Given the description of an element on the screen output the (x, y) to click on. 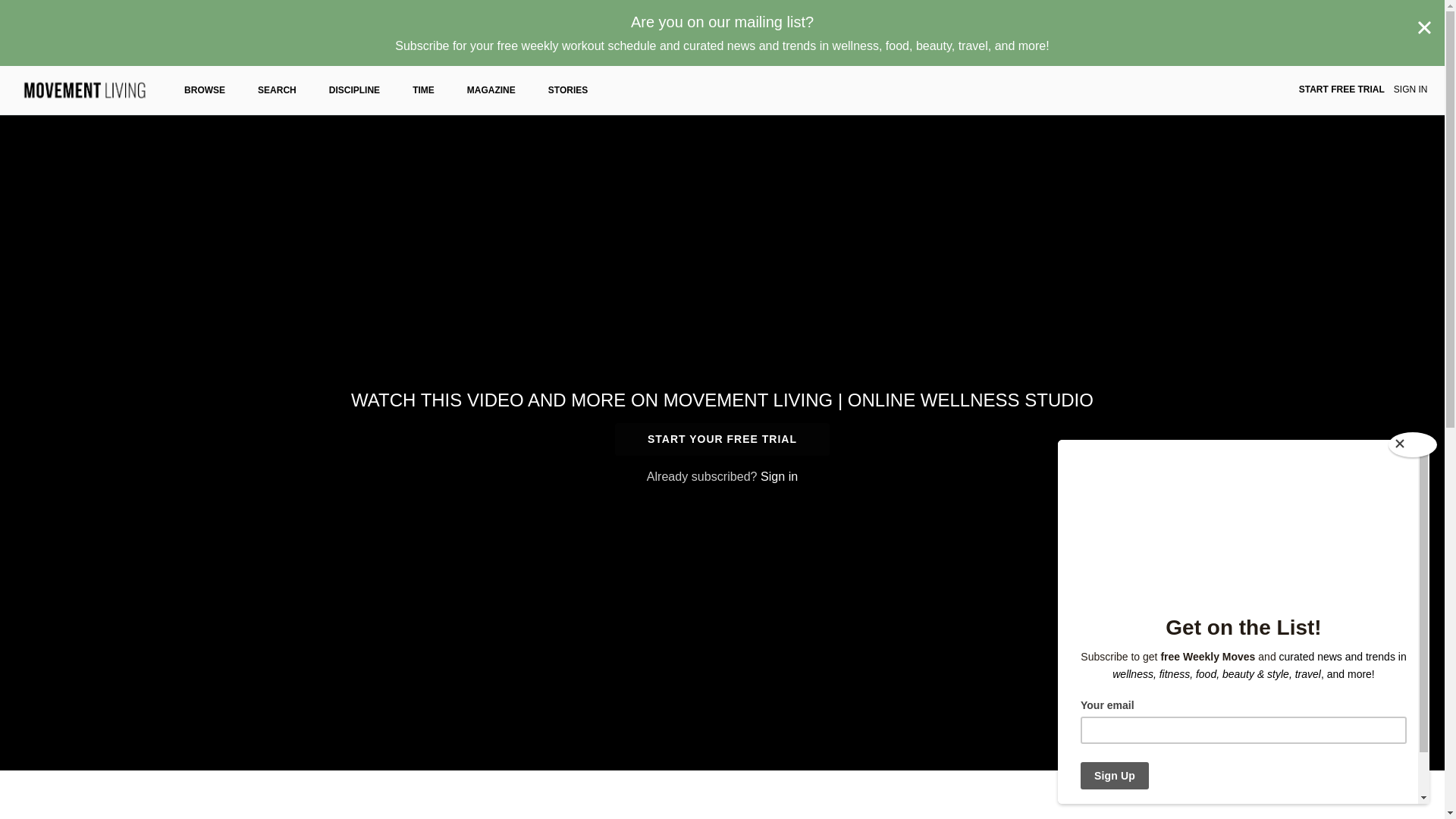
Skip to main content (48, 7)
STORIES (568, 90)
START FREE TRIAL (1341, 90)
Sign in (778, 476)
DISCIPLINE (354, 90)
MAGAZINE (491, 90)
START YOUR FREE TRIAL (721, 439)
SIGN IN (1410, 90)
BROWSE (204, 90)
SEARCH (277, 90)
TIME (422, 90)
